Given the description of an element on the screen output the (x, y) to click on. 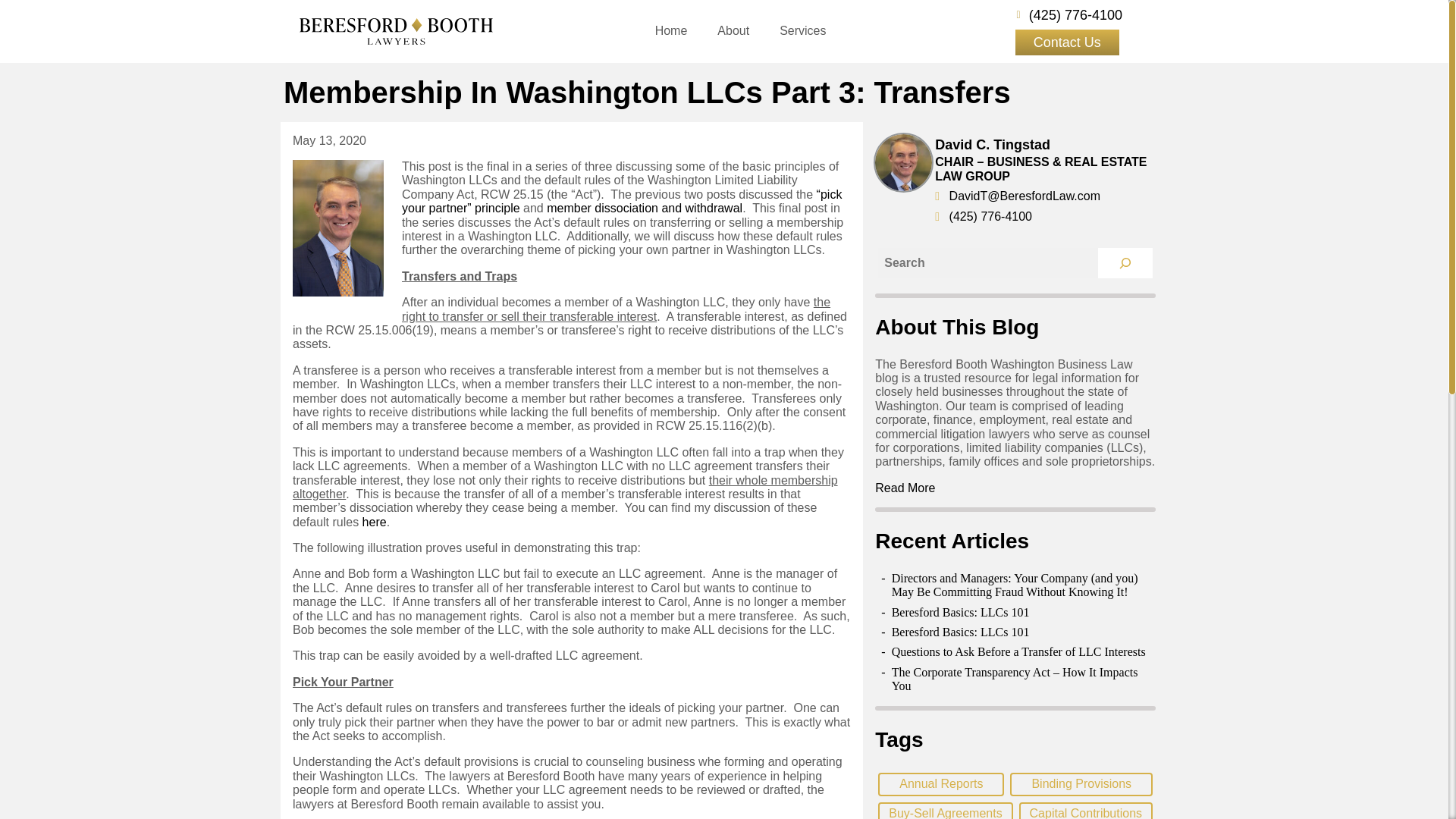
Questions to Ask Before a Transfer of LLC Interests (1018, 652)
Beresford Basics: LLCs 101 (960, 612)
Contact Us (1066, 42)
Capital Contributions (1086, 810)
About (732, 30)
here (374, 521)
member dissociation and withdrawal (644, 207)
Services (802, 30)
Read More (904, 487)
Home (671, 30)
